Given the description of an element on the screen output the (x, y) to click on. 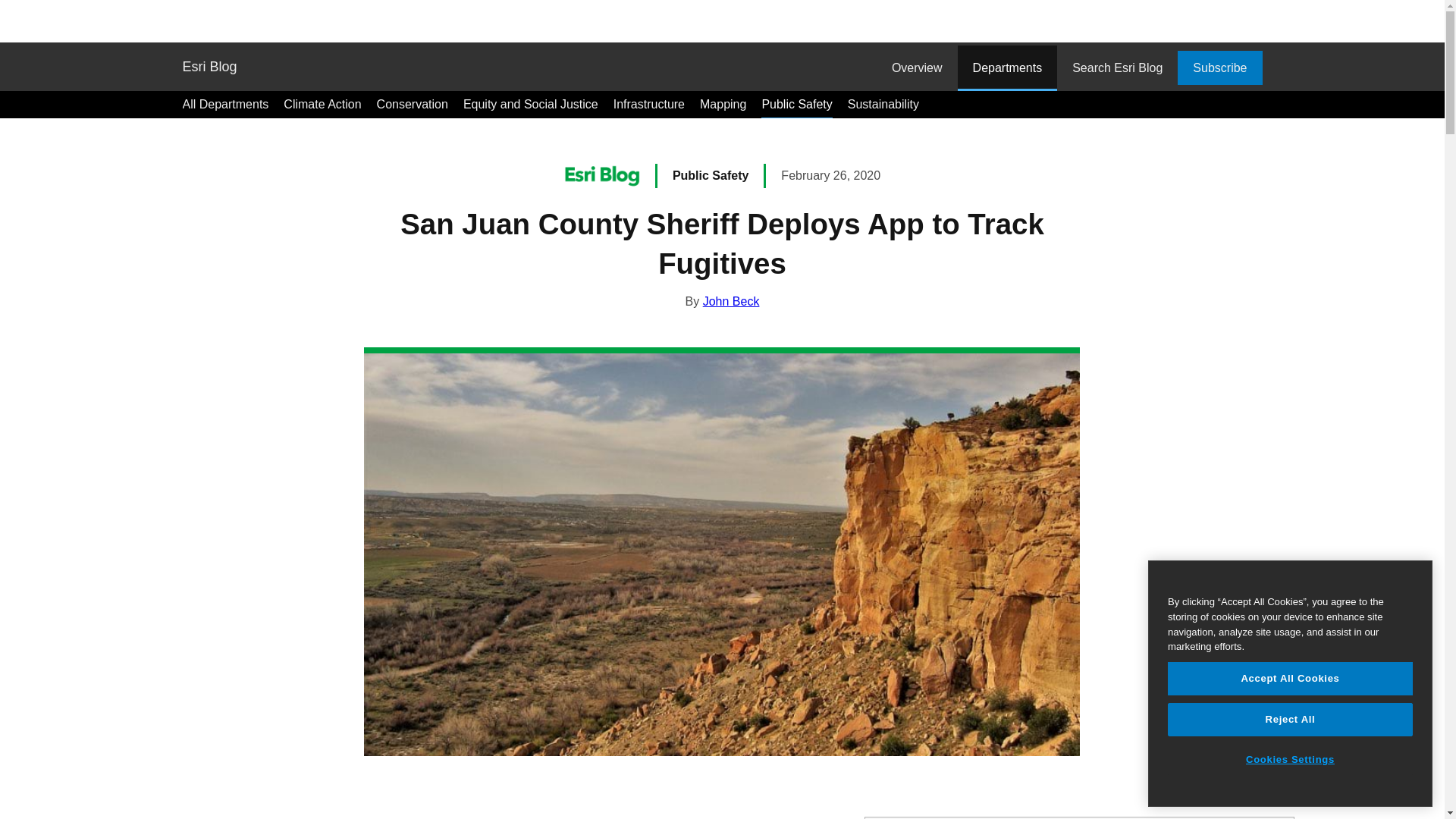
Search Esri Blog (1117, 67)
Public Safety (796, 104)
Accept All Cookies (1289, 678)
Infrastructure (648, 104)
Subscribe (1219, 67)
Departments (1008, 67)
Reject All (1289, 719)
Mapping (722, 104)
Esri Blog (208, 66)
Climate Action (322, 104)
Public Safety (710, 174)
All Departments (224, 104)
Equity and Social Justice (530, 104)
Cookies Settings (1289, 759)
Overview (917, 67)
